Given the description of an element on the screen output the (x, y) to click on. 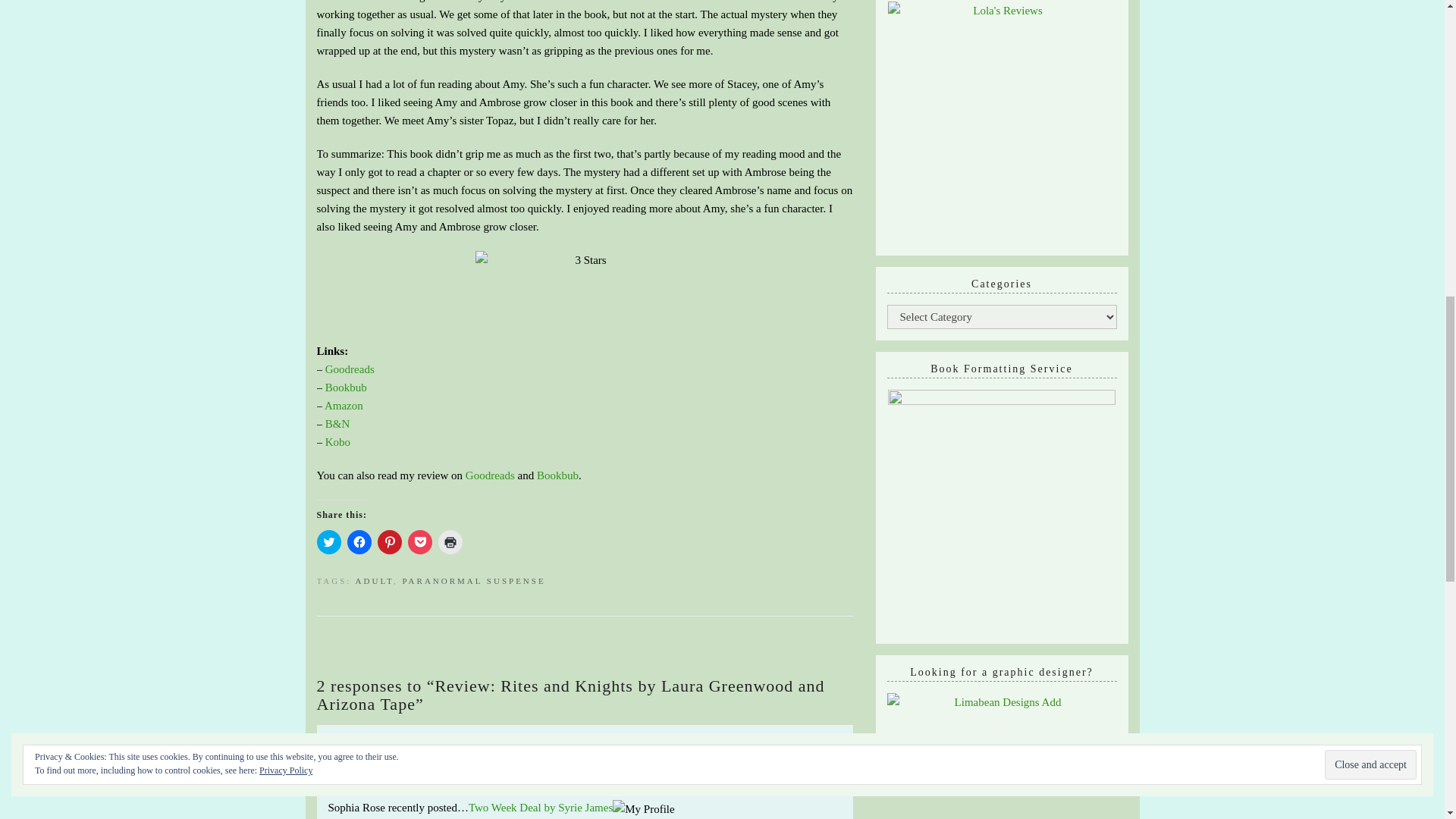
Amazon (343, 405)
ADULT (374, 580)
Click to share on Twitter (328, 541)
Click to share on Pinterest (389, 541)
Goodreads (349, 369)
Bookbub (557, 475)
Click to share on Pocket (419, 541)
Click to print (450, 541)
Kobo (337, 441)
sophia rose (411, 746)
